Given the description of an element on the screen output the (x, y) to click on. 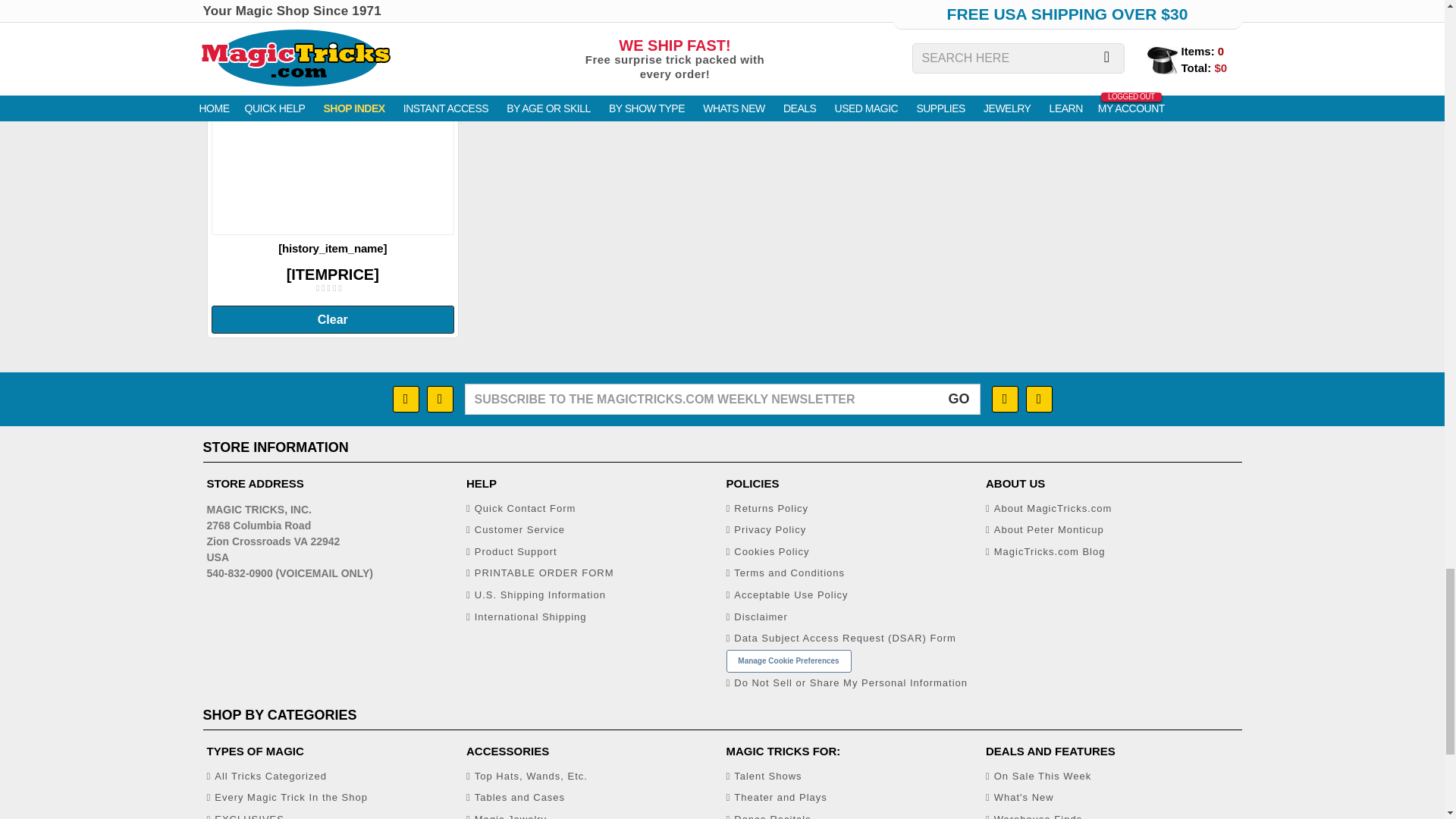
Follow Us on Instagram (439, 398)
Follow Us on Twitter (1038, 398)
Like Us on Facebook (406, 398)
Follow Us on Pinterest (1004, 398)
